Given the description of an element on the screen output the (x, y) to click on. 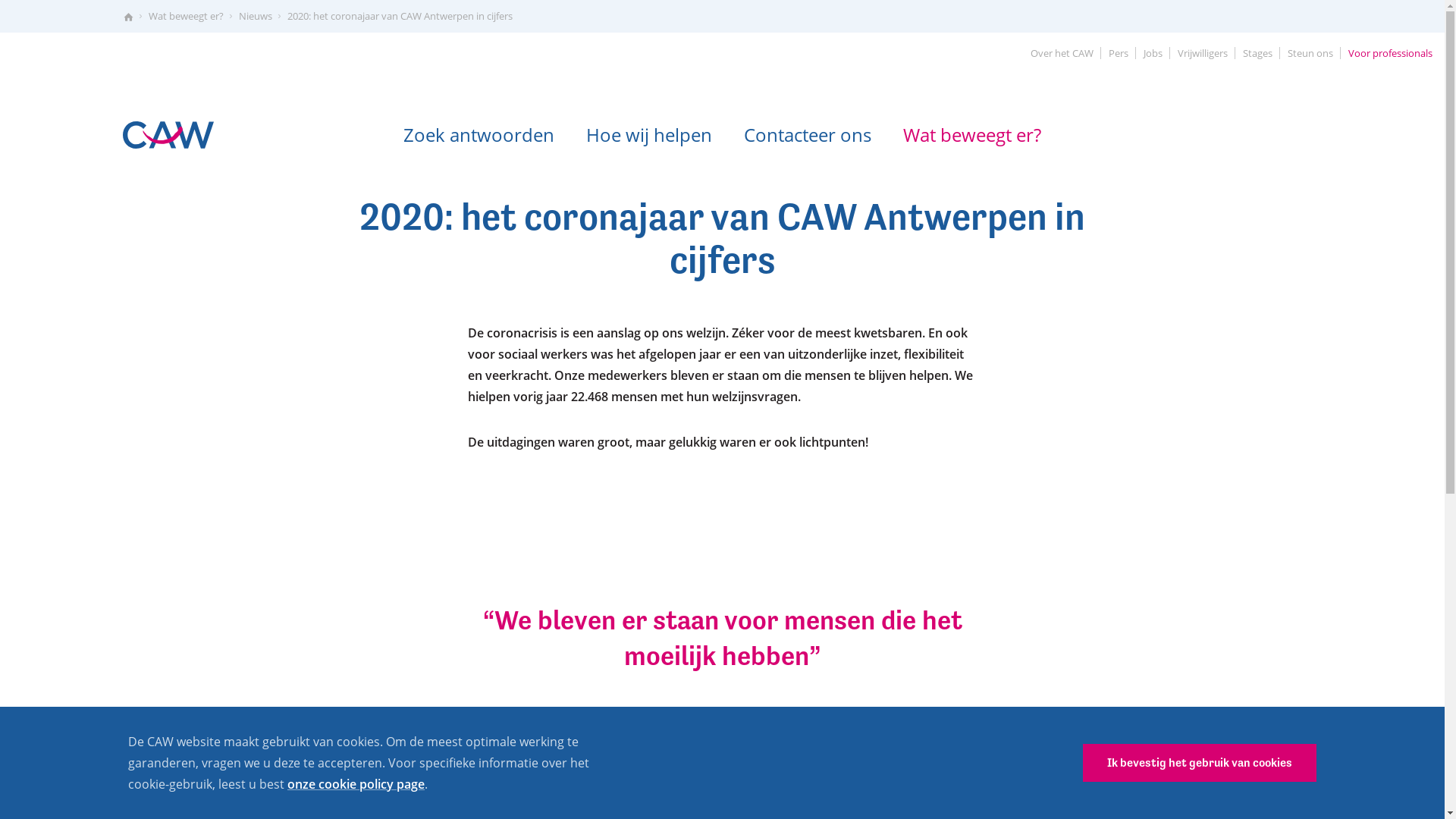
Voor professionals Element type: text (1390, 53)
Over het CAW Element type: text (1061, 53)
Jobs Element type: text (1152, 53)
Contacteer ons Element type: text (807, 134)
onze cookie policy page Element type: text (355, 783)
Vrijwilligers Element type: text (1202, 53)
Nieuws Element type: text (254, 16)
Cijfers 2020 downloaden Element type: text (603, 776)
Stages Element type: text (1257, 53)
Steun ons Element type: text (1310, 53)
Startpagina Element type: hover (127, 16)
Pers Element type: text (1118, 53)
Wat beweegt er? Element type: text (971, 134)
Ik bevestig het gebruik van cookies Element type: text (1199, 762)
2020: het coronajaar van CAW Antwerpen in cijfers Element type: text (399, 16)
Wat beweegt er? Element type: text (186, 16)
Hoe wij helpen Element type: text (648, 134)
Zoek antwoorden Element type: text (478, 134)
